Given the description of an element on the screen output the (x, y) to click on. 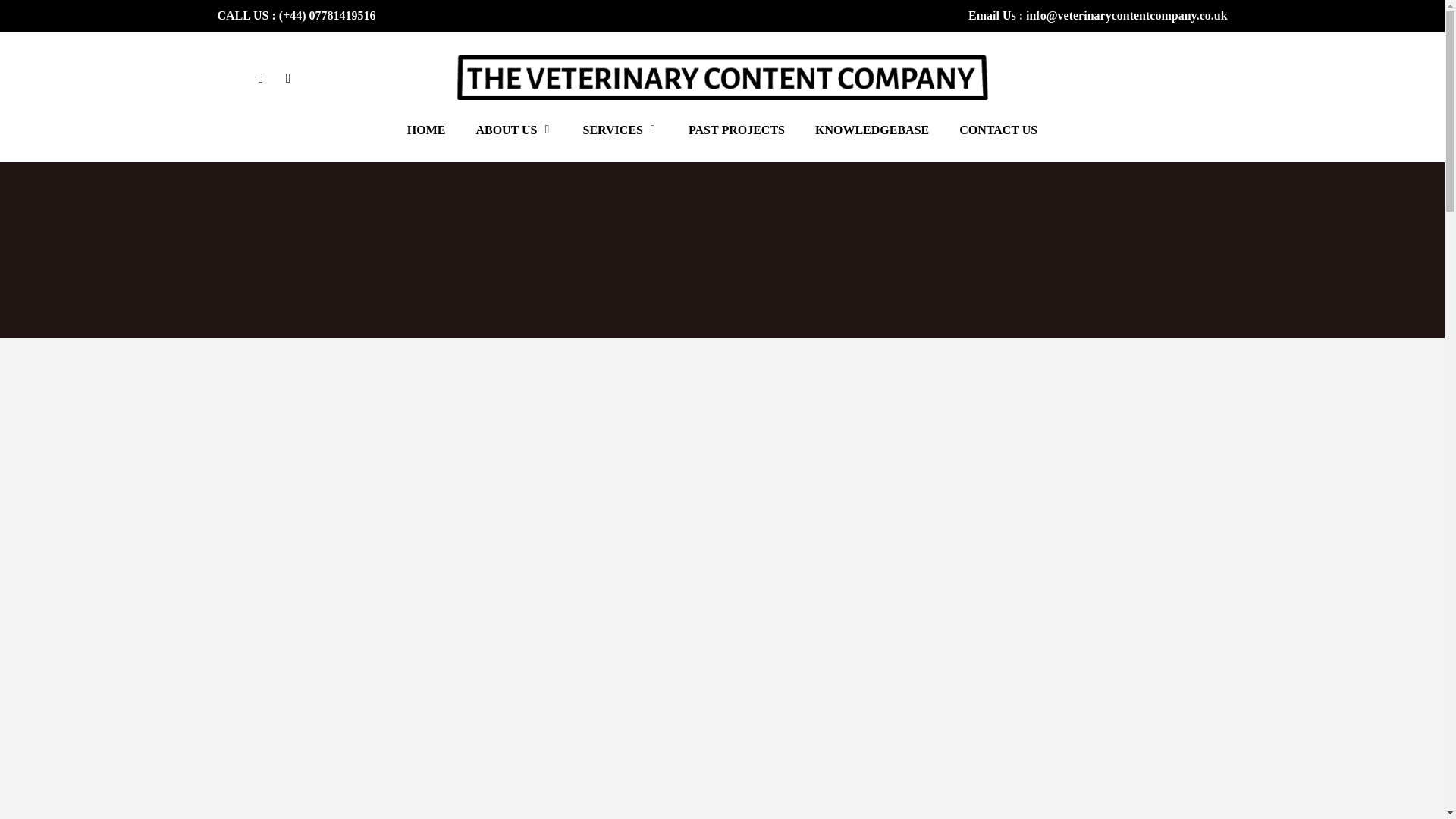
KNOWLEDGEBASE (871, 141)
PAST PROJECTS (736, 141)
HOME (426, 141)
ABOUT US (513, 141)
SERVICES (620, 141)
CONTACT US (997, 141)
